Given the description of an element on the screen output the (x, y) to click on. 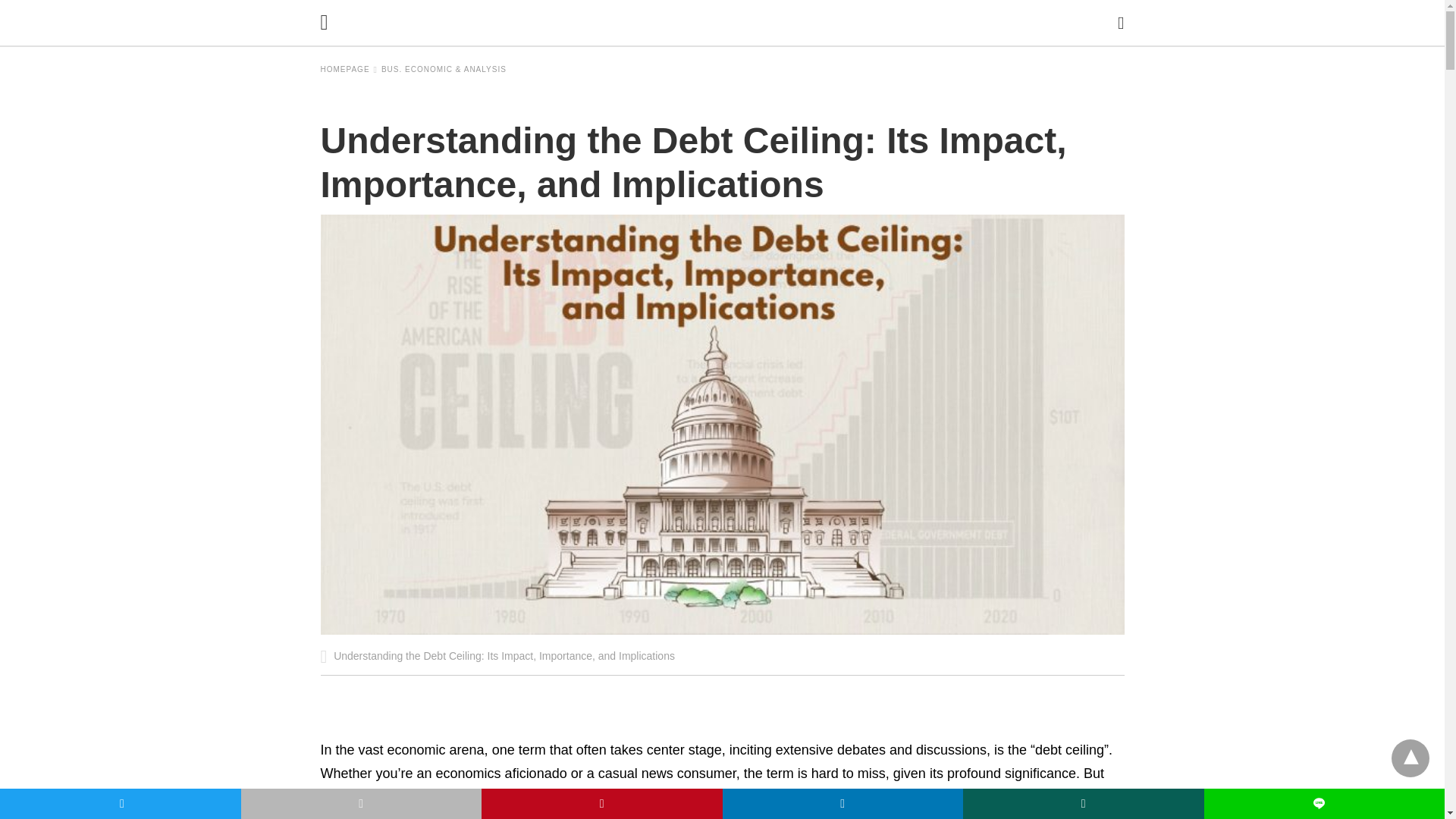
LiteracyBase (725, 22)
Homepage (348, 69)
HOMEPAGE (348, 69)
